Given the description of an element on the screen output the (x, y) to click on. 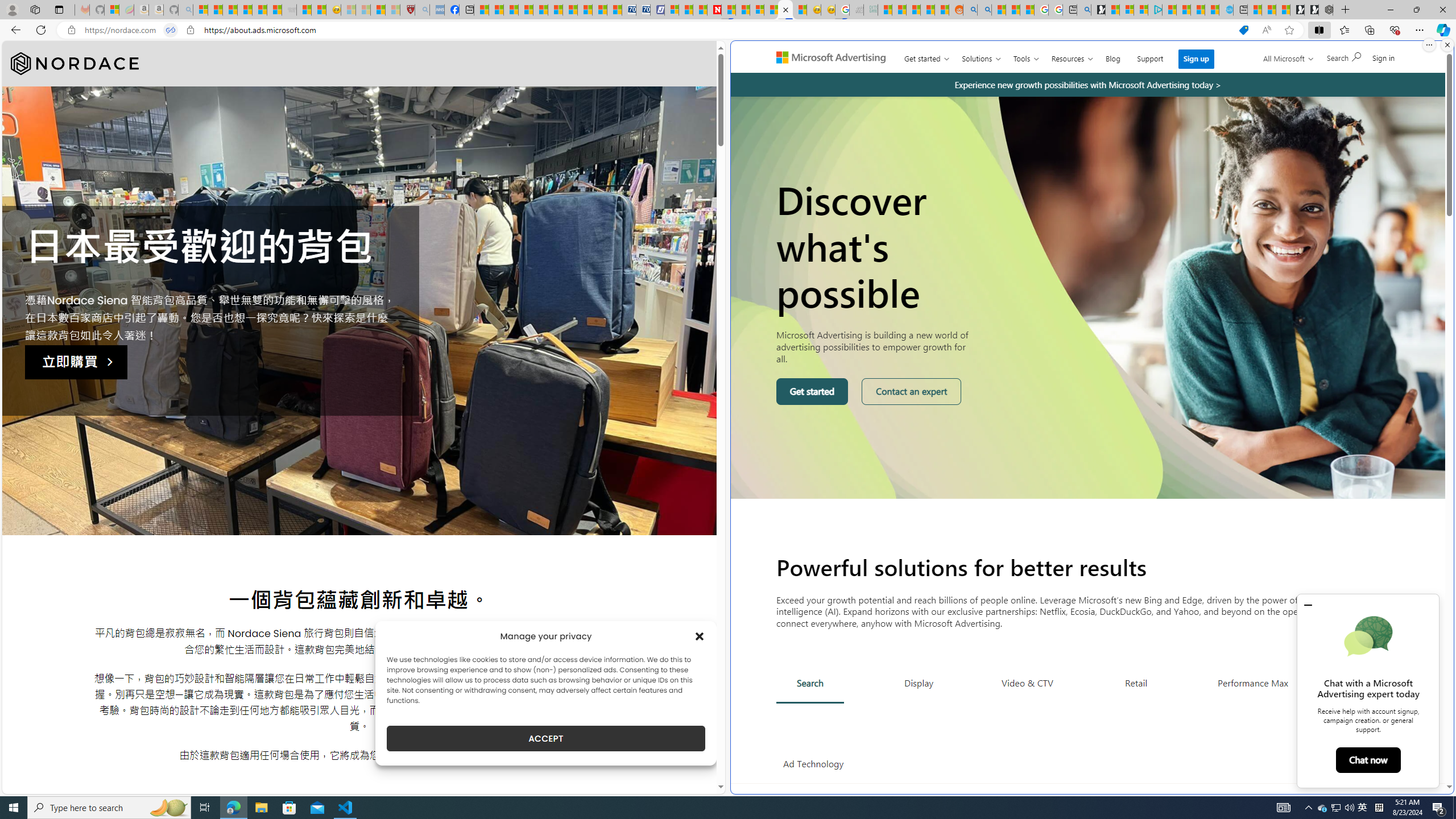
New tab (1240, 9)
list of asthma inhalers uk - Search - Sleeping (421, 9)
More options. (1428, 45)
Chat now (1367, 759)
Settings and more (Alt+F) (1419, 29)
Ad Technology (813, 763)
Utah sues federal government - Search (983, 9)
Climate Damage Becomes Too Severe To Reverse (525, 9)
Student Loan Update: Forgiveness Program Ends This Month (927, 9)
Video & CTV (1026, 682)
